Given the description of an element on the screen output the (x, y) to click on. 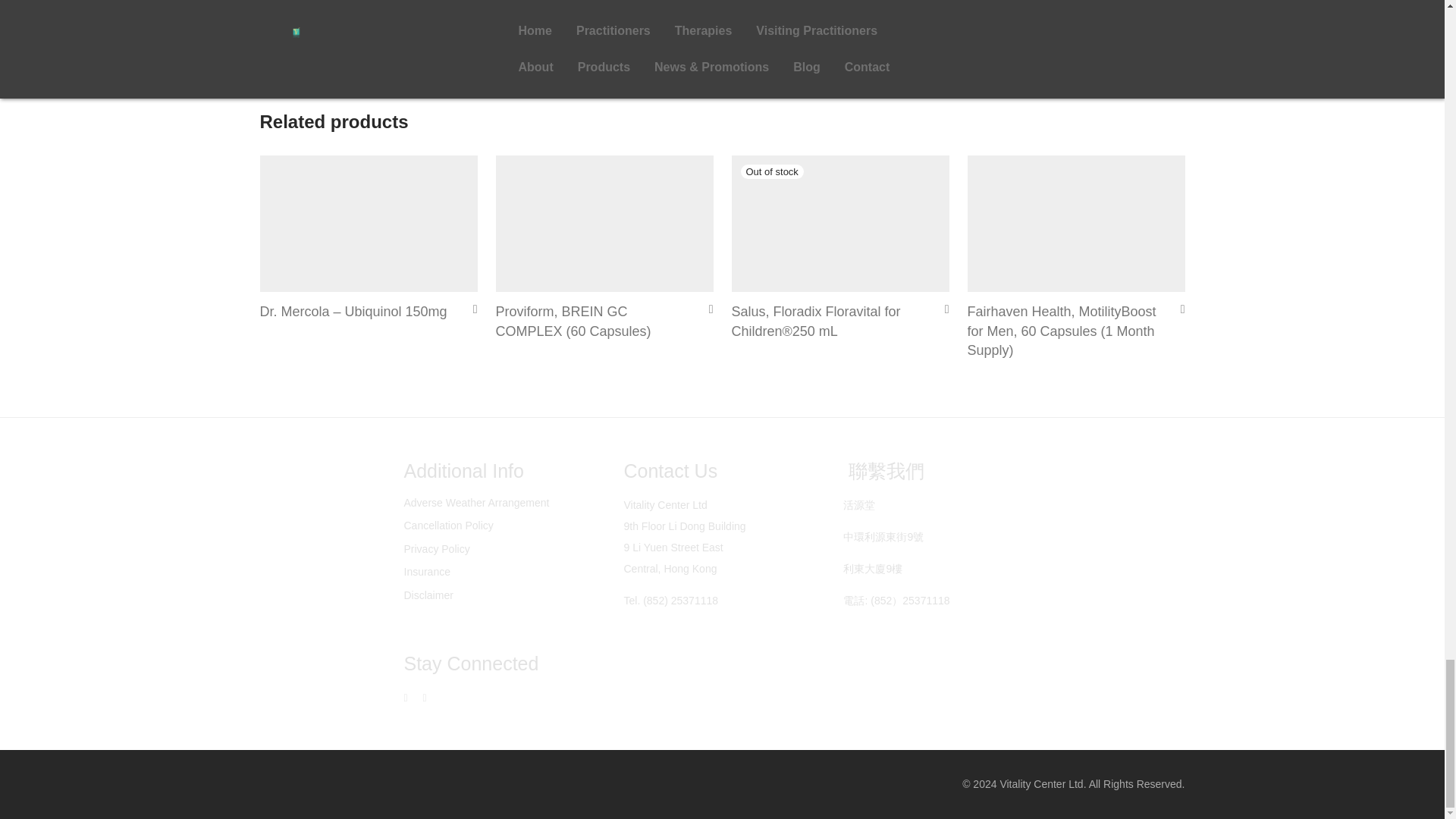
Add to Wishlist (1177, 308)
Add to Wishlist (705, 308)
Add to Wishlist (941, 308)
Add to Wishlist (470, 308)
